Given the description of an element on the screen output the (x, y) to click on. 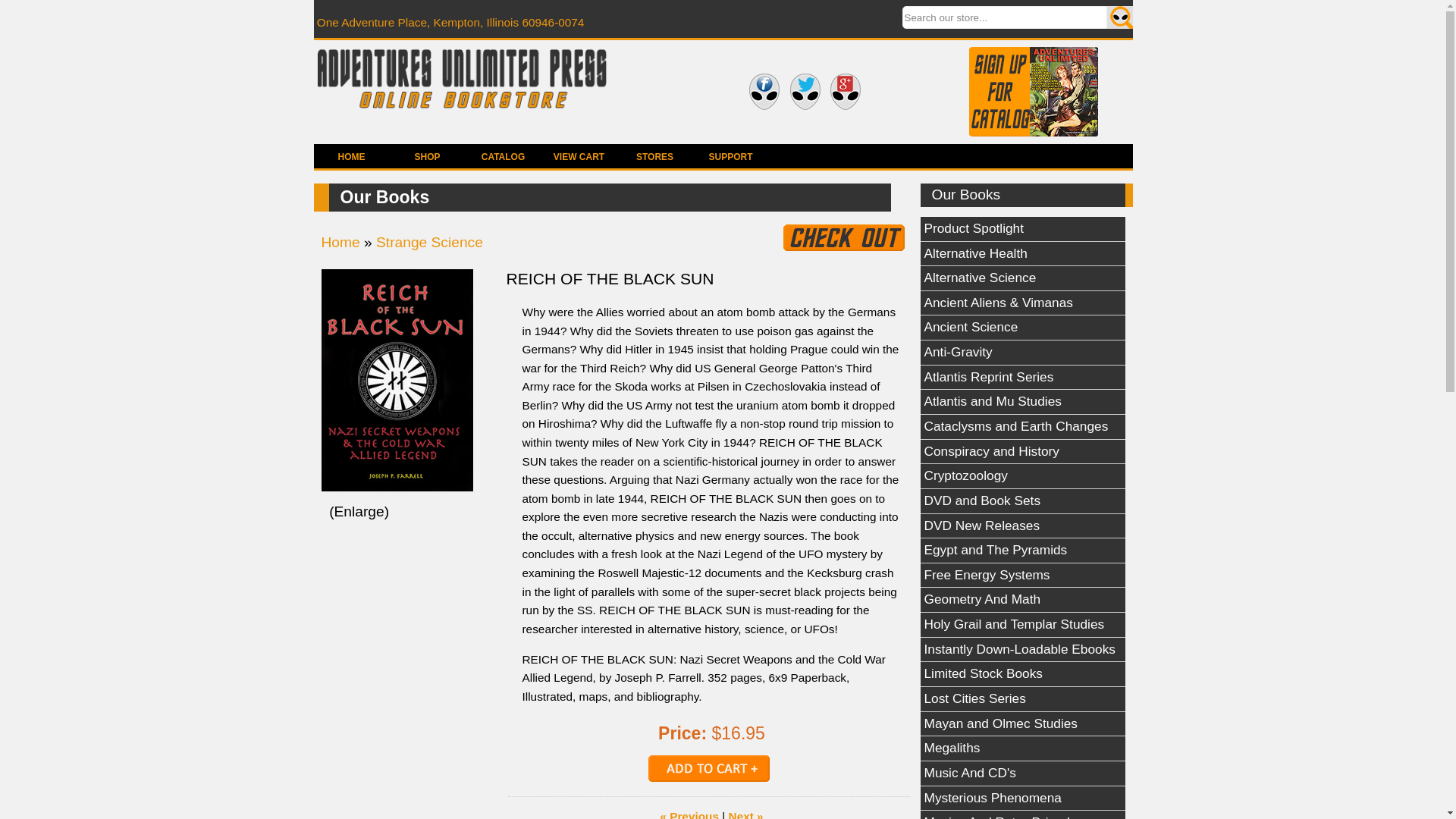
SUPPORT (730, 156)
Holy Grail and Templar Studies (1022, 625)
Free Energy Systems (1022, 575)
VIEW CART (579, 156)
STORES (655, 156)
Lost Cities Series (1022, 699)
Mysterious Phenomena (1022, 798)
Ancient Science (1022, 327)
CATALOG (503, 156)
SHOP (427, 156)
Mayan and Olmec Studies (1022, 724)
Music And CD's (1022, 773)
DVD and Book Sets (1022, 501)
Atlantis Reprint Series (1022, 377)
HOME (352, 156)
